Given the description of an element on the screen output the (x, y) to click on. 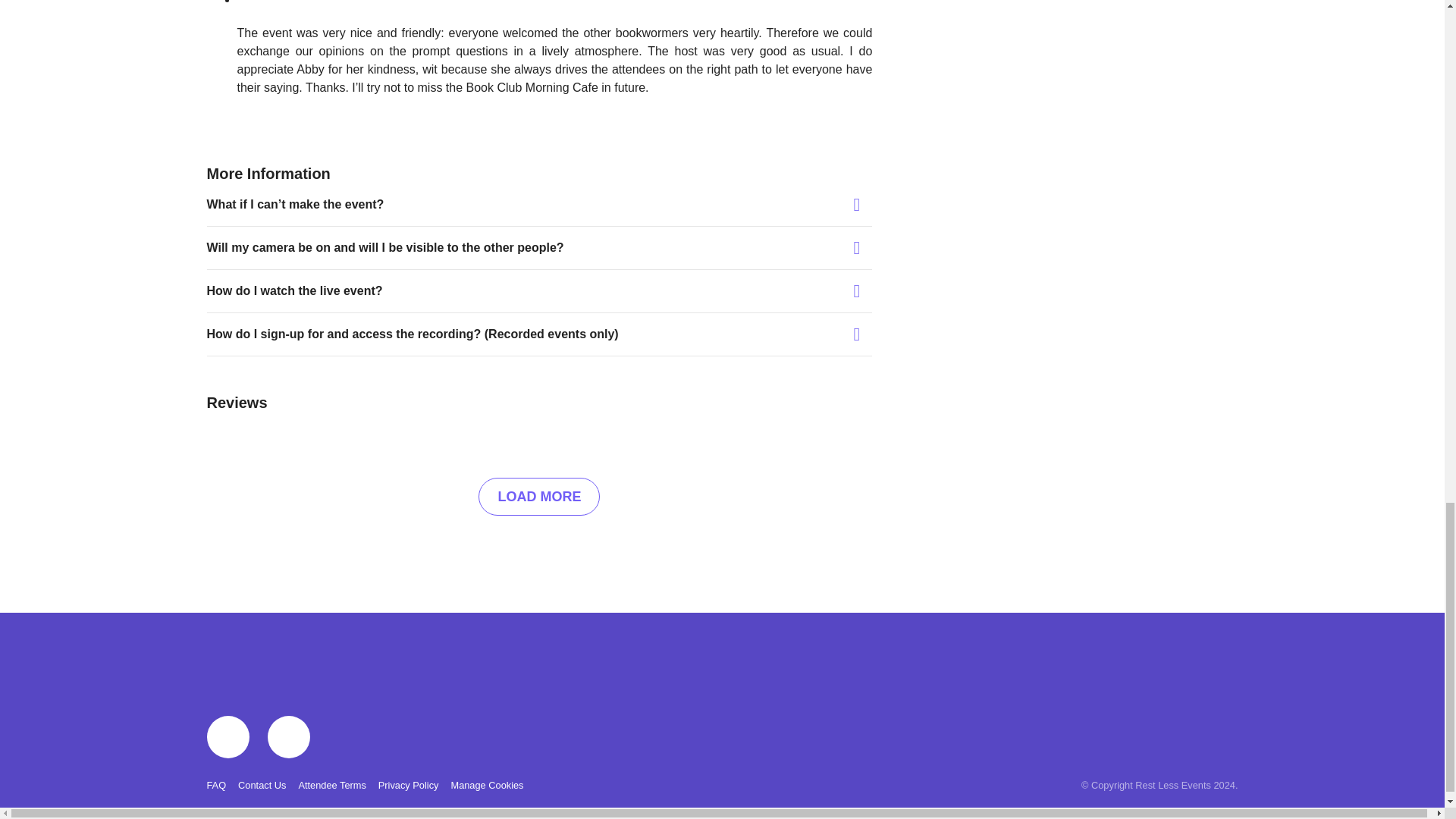
Contact Us (261, 785)
Manage Cookies (485, 785)
Privacy Policy (408, 785)
FAQ (215, 785)
LOAD MORE (539, 496)
Attendee Terms (331, 785)
